Given the description of an element on the screen output the (x, y) to click on. 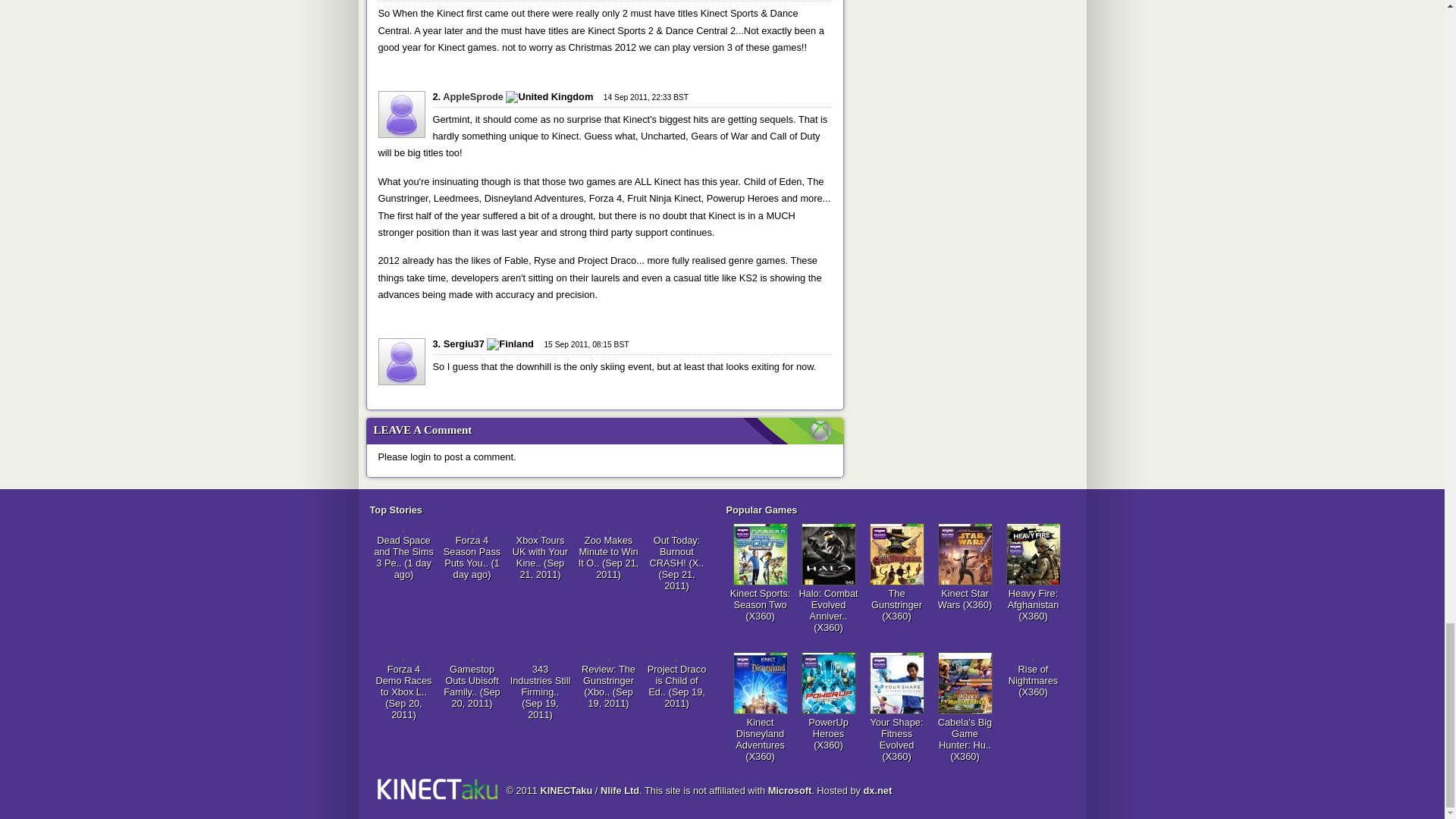
dx.net (877, 790)
AppleSprode (472, 96)
KINECTaku (566, 790)
Nlife Ltd (619, 790)
Microsoft (790, 790)
